Given the description of an element on the screen output the (x, y) to click on. 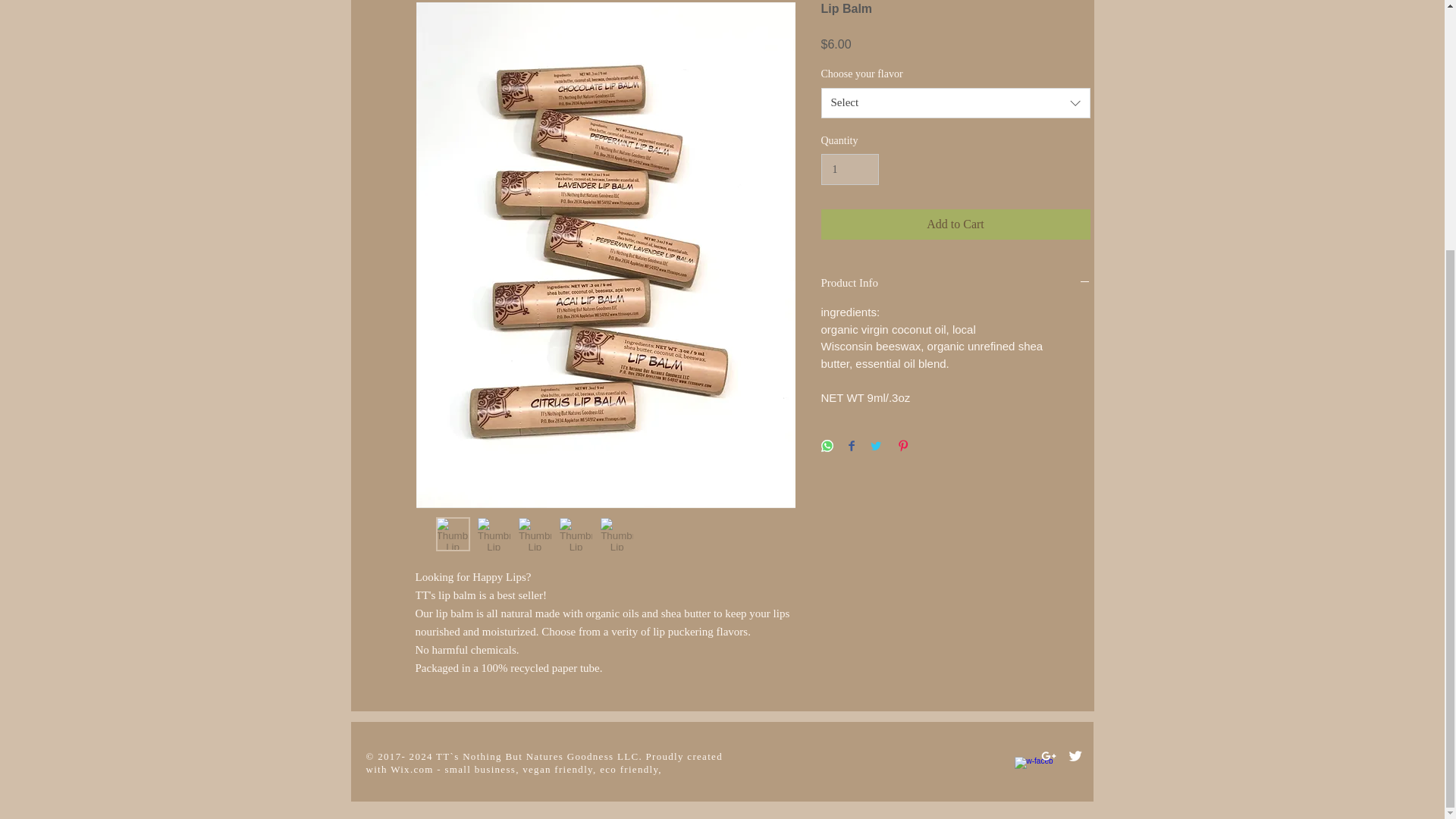
1 (849, 169)
Product Info (955, 283)
Select (955, 102)
Wix.com -  (417, 768)
Add to Cart (955, 224)
